Given the description of an element on the screen output the (x, y) to click on. 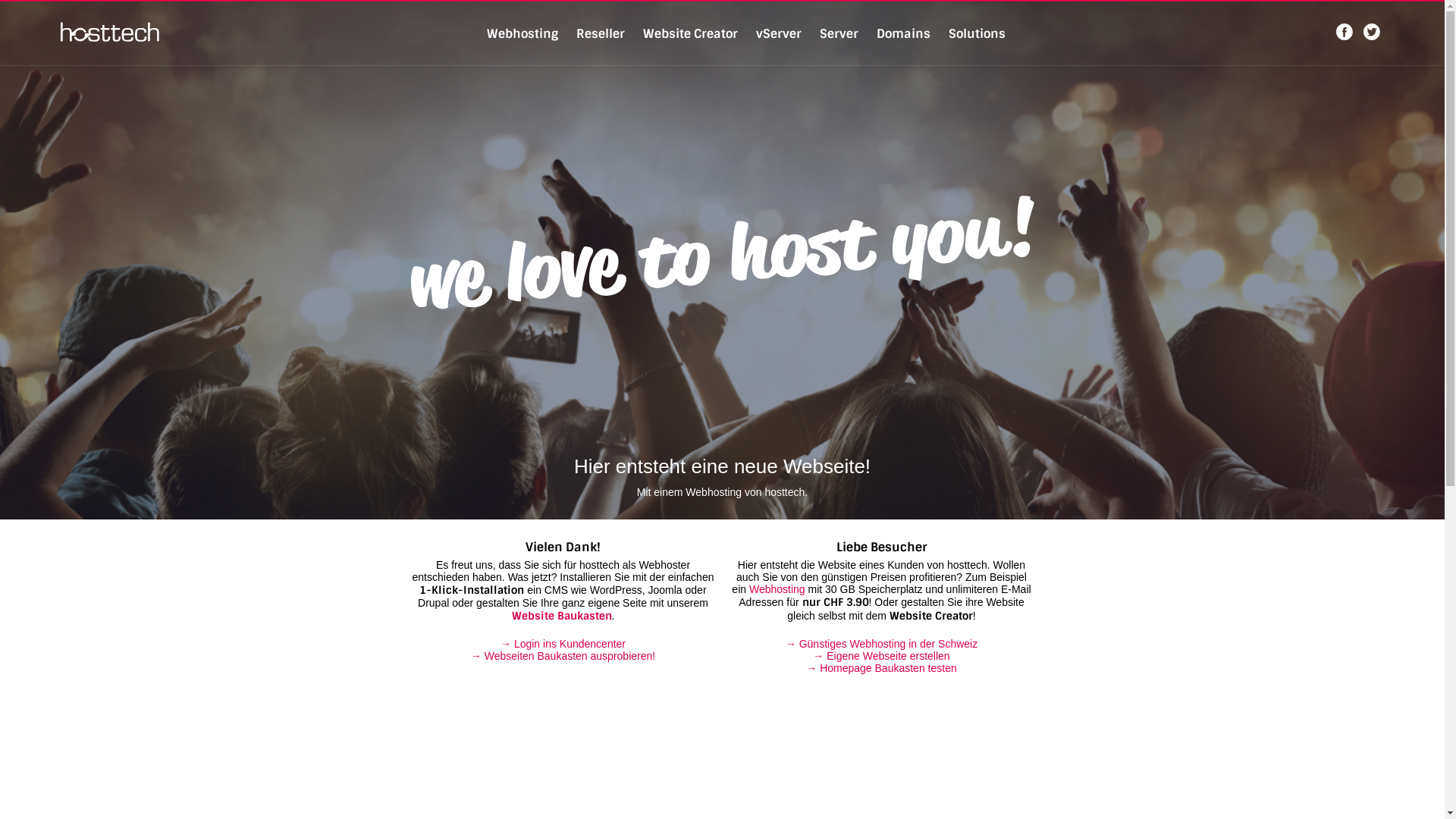
Domains Element type: text (903, 33)
Server Element type: text (838, 33)
vServer Element type: text (777, 33)
Reseller Element type: text (600, 33)
Webhosting Element type: text (777, 589)
Webhosting Element type: text (522, 33)
Website Creator Element type: text (690, 33)
Website Baukasten Element type: text (561, 615)
Solutions Element type: text (975, 33)
